Given the description of an element on the screen output the (x, y) to click on. 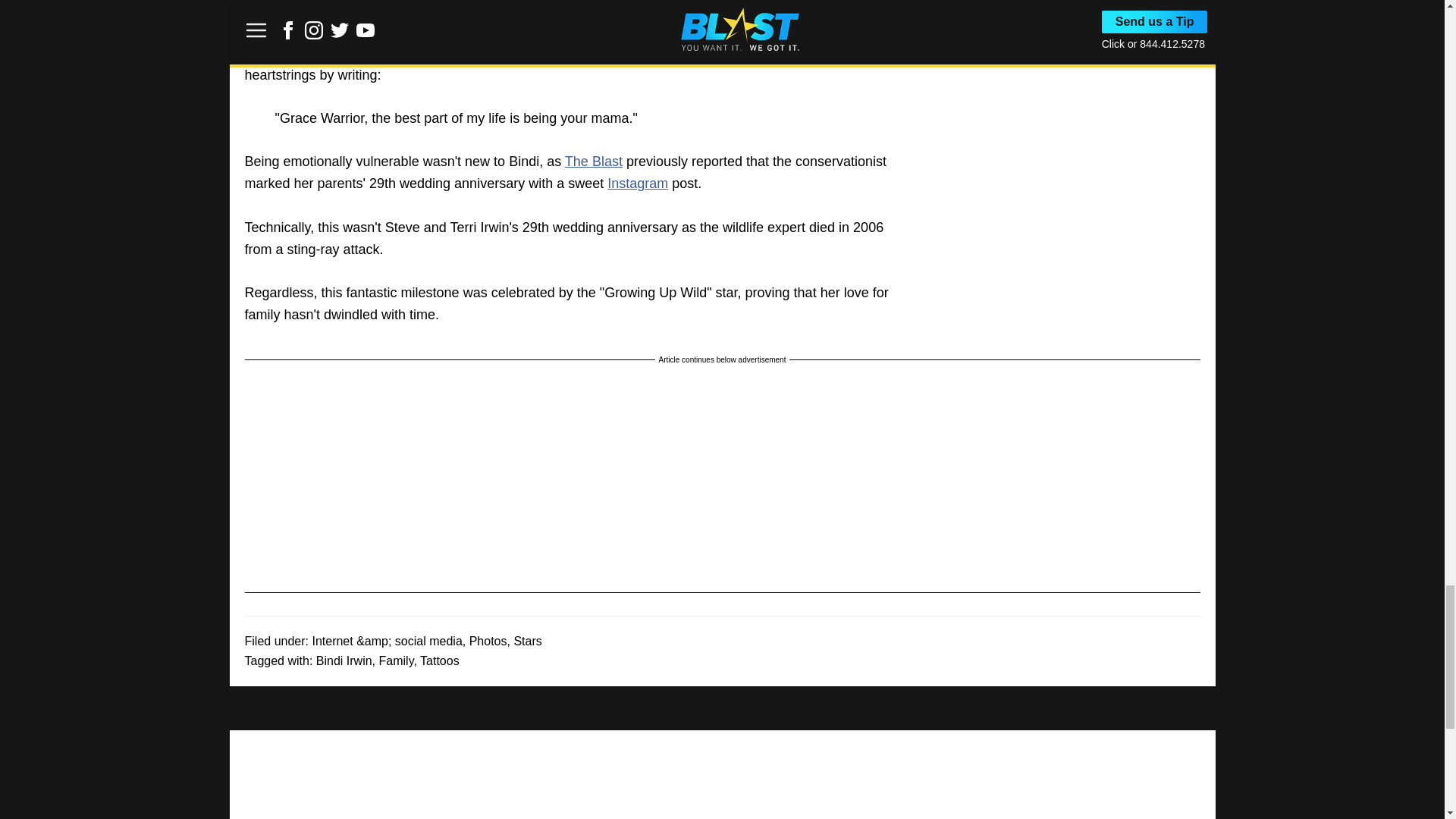
Photos (487, 640)
Tattoos (440, 660)
The Blast (593, 160)
Bindi Irwin (343, 660)
Stars (527, 640)
Instagram (637, 183)
Family (395, 660)
